Given the description of an element on the screen output the (x, y) to click on. 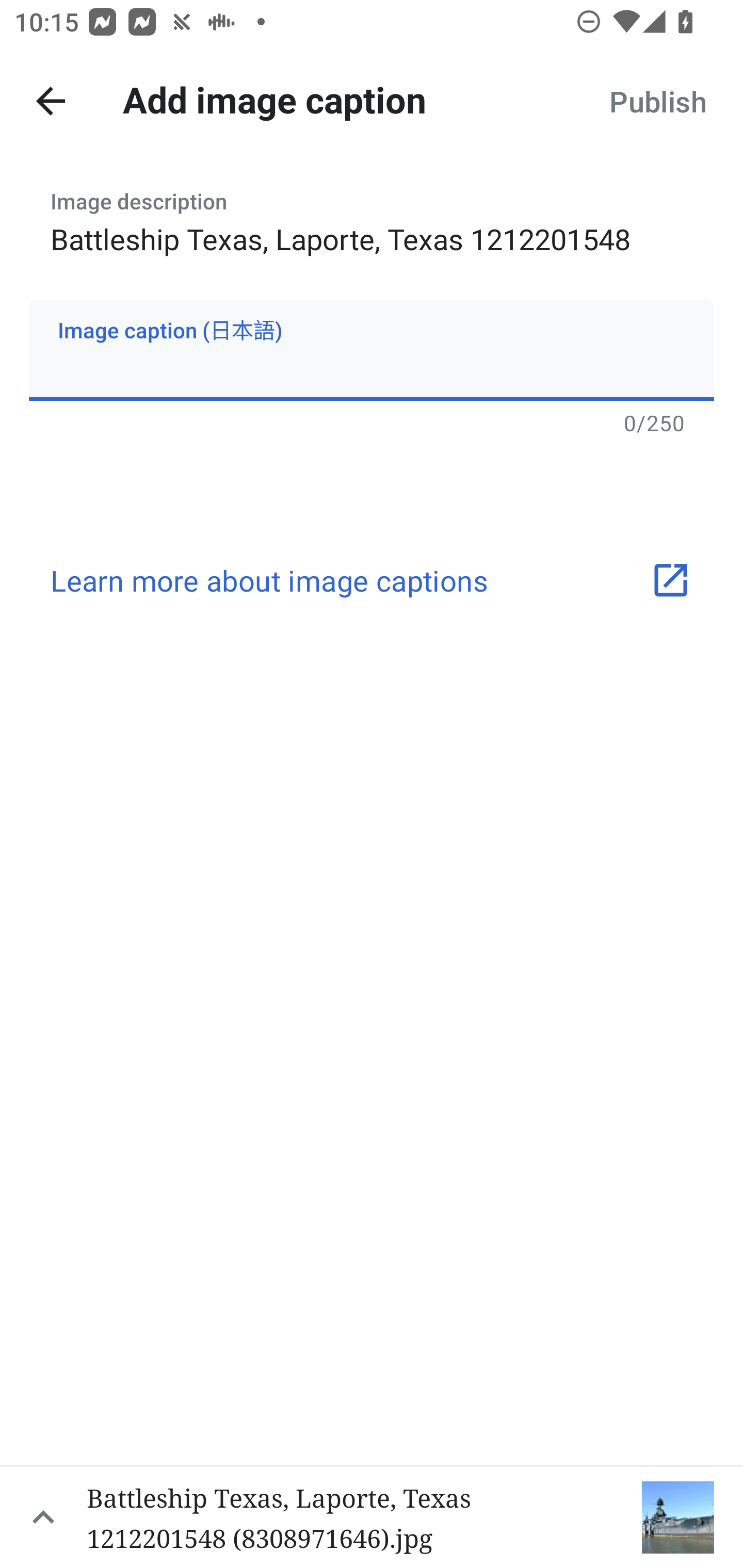
Cancel (50, 101)
Publish (657, 101)
Image caption (日本語) (371, 350)
Learn more about image captions (371, 580)
